Given the description of an element on the screen output the (x, y) to click on. 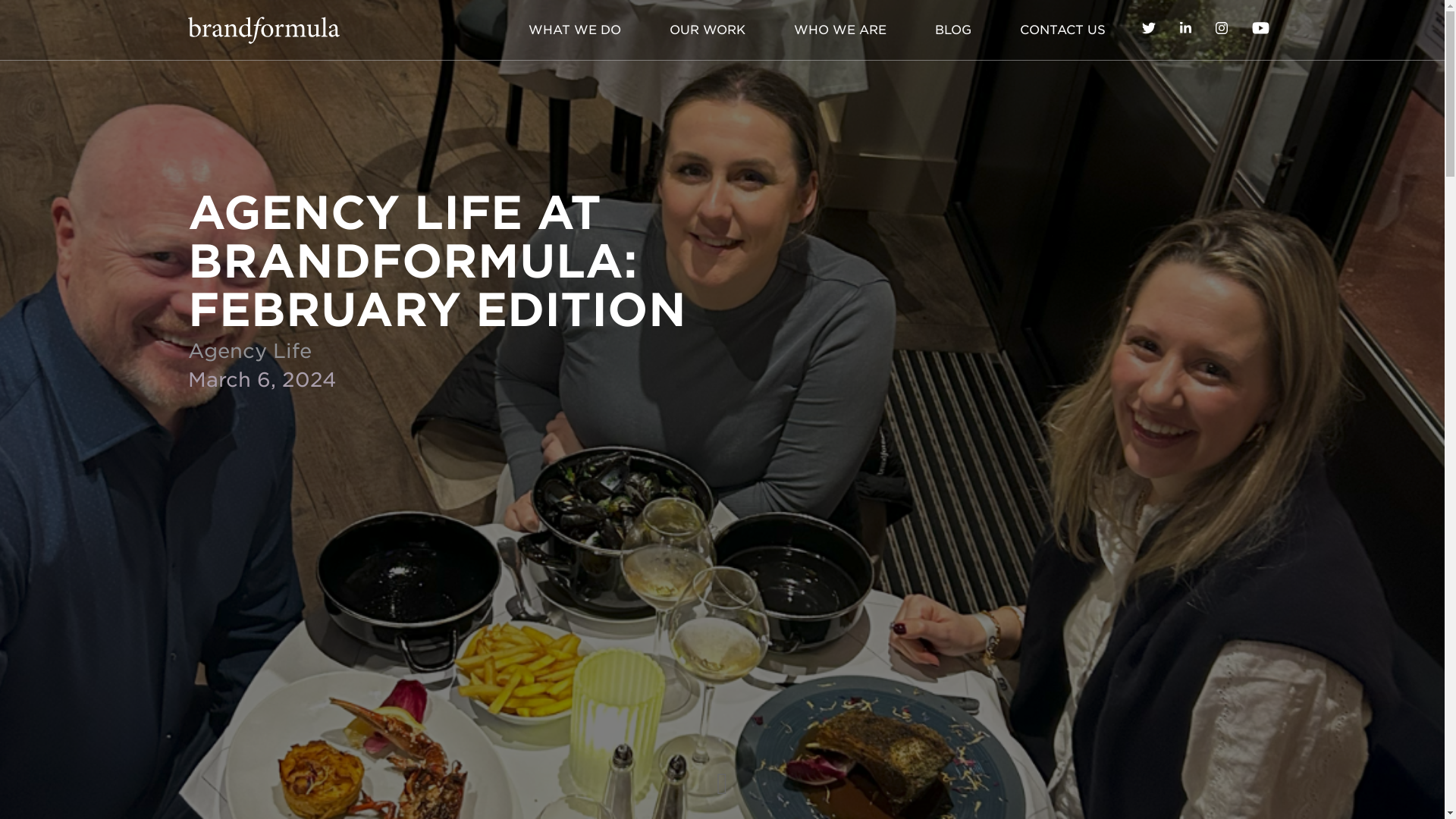
WHO WE ARE (839, 30)
CONTACT US (1061, 30)
BLOG (952, 30)
WHAT WE DO (574, 30)
OUR WORK (706, 30)
Agency Life (249, 350)
